Given the description of an element on the screen output the (x, y) to click on. 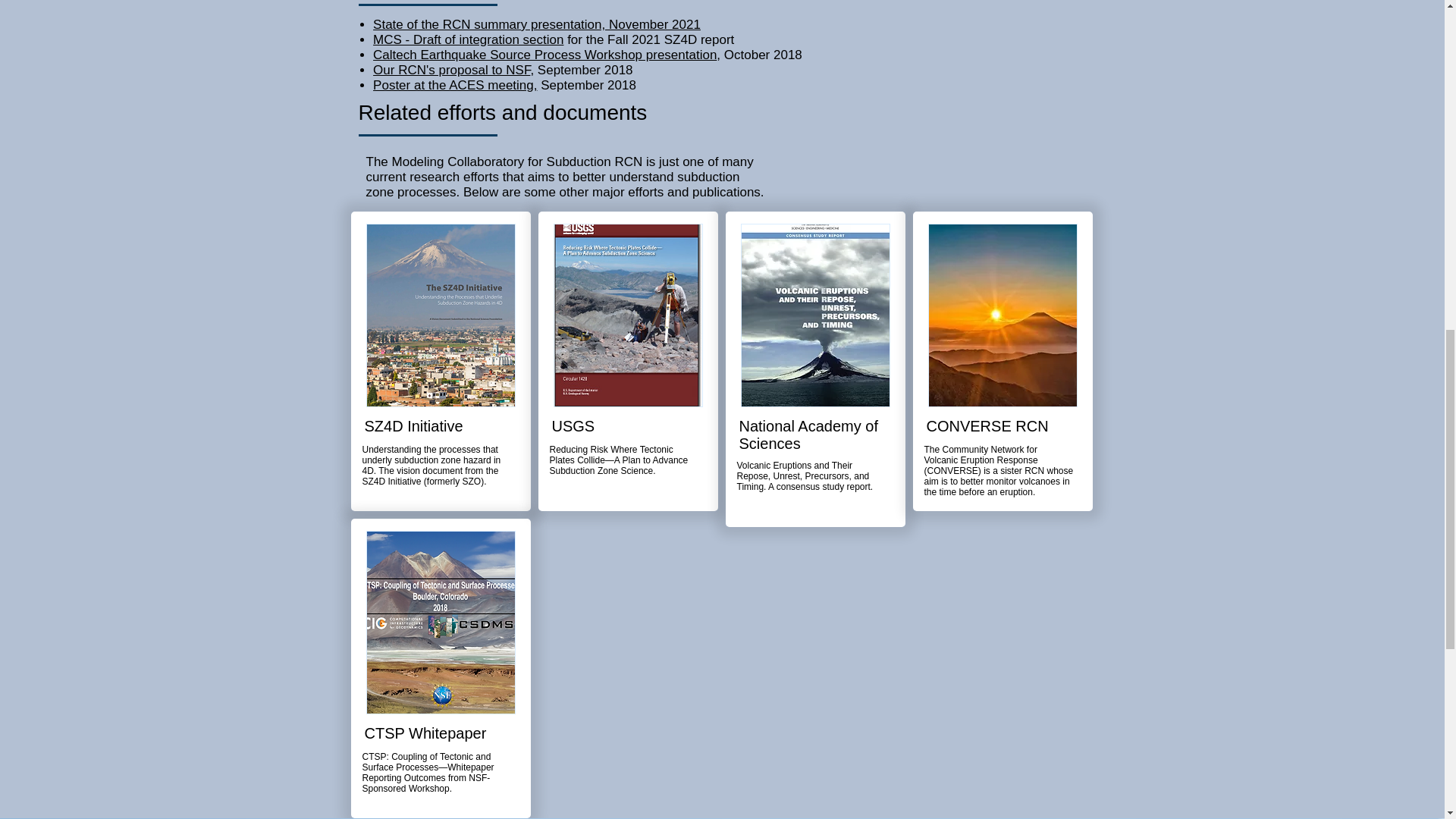
MCS - Draft of integration section (467, 39)
Our RCN's proposal to NSF (450, 69)
Caltech Earthquake Source Process Workshop presentation (544, 54)
Poster at the ACES meeting, (454, 84)
State of the RCN summary presentation, November 2021 (536, 24)
